Given the description of an element on the screen output the (x, y) to click on. 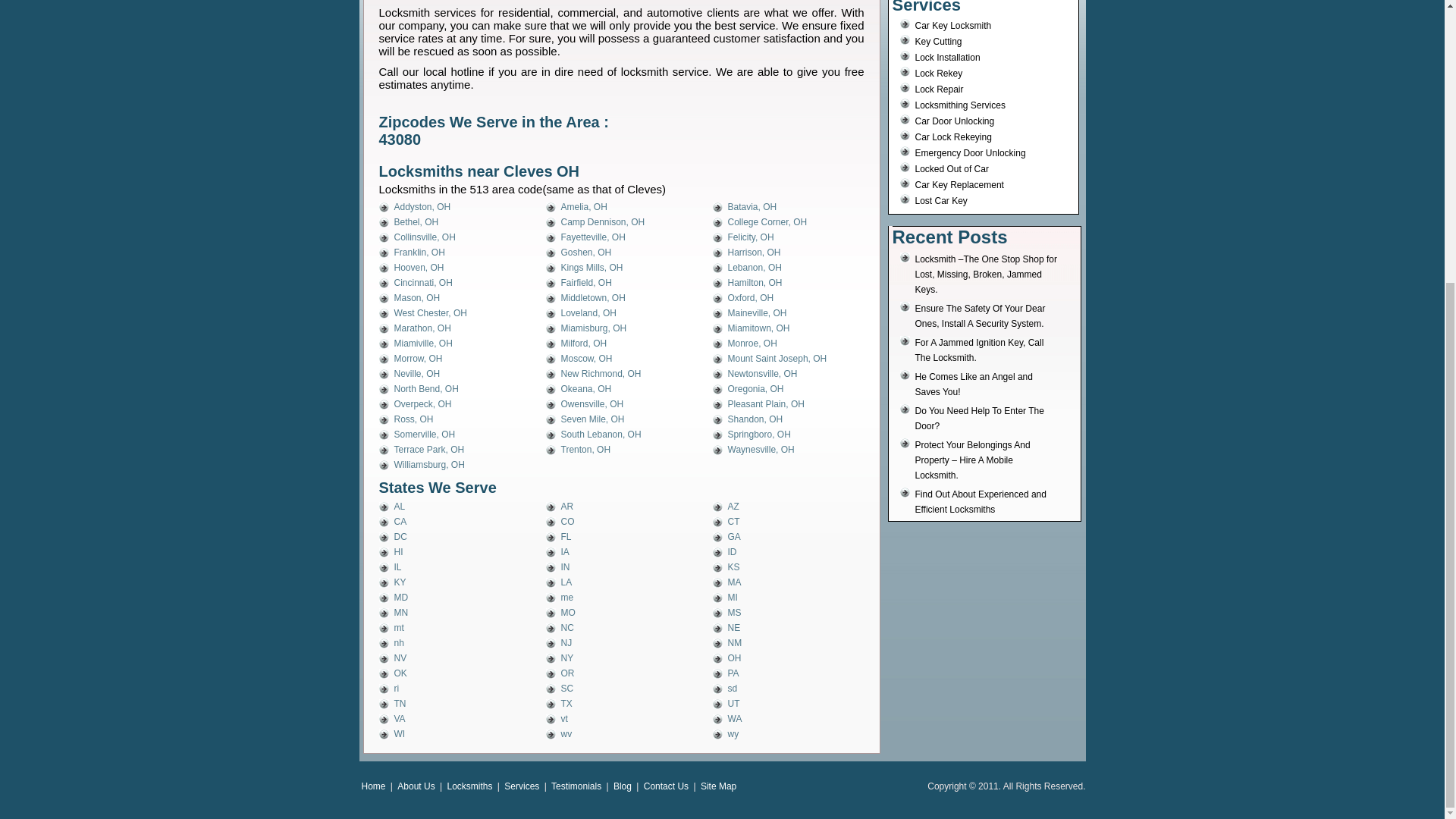
Permanent Link to Goshen OH (585, 252)
Batavia, OH (752, 206)
Permanent Link to College Corner OH (768, 222)
Oxford, OH (751, 297)
Loveland, OH (587, 312)
Franklin, OH (419, 252)
Kings Mills, OH (591, 267)
Middletown, OH (593, 297)
Camp Dennison, OH (602, 222)
Miamiville, OH (423, 343)
